Given the description of an element on the screen output the (x, y) to click on. 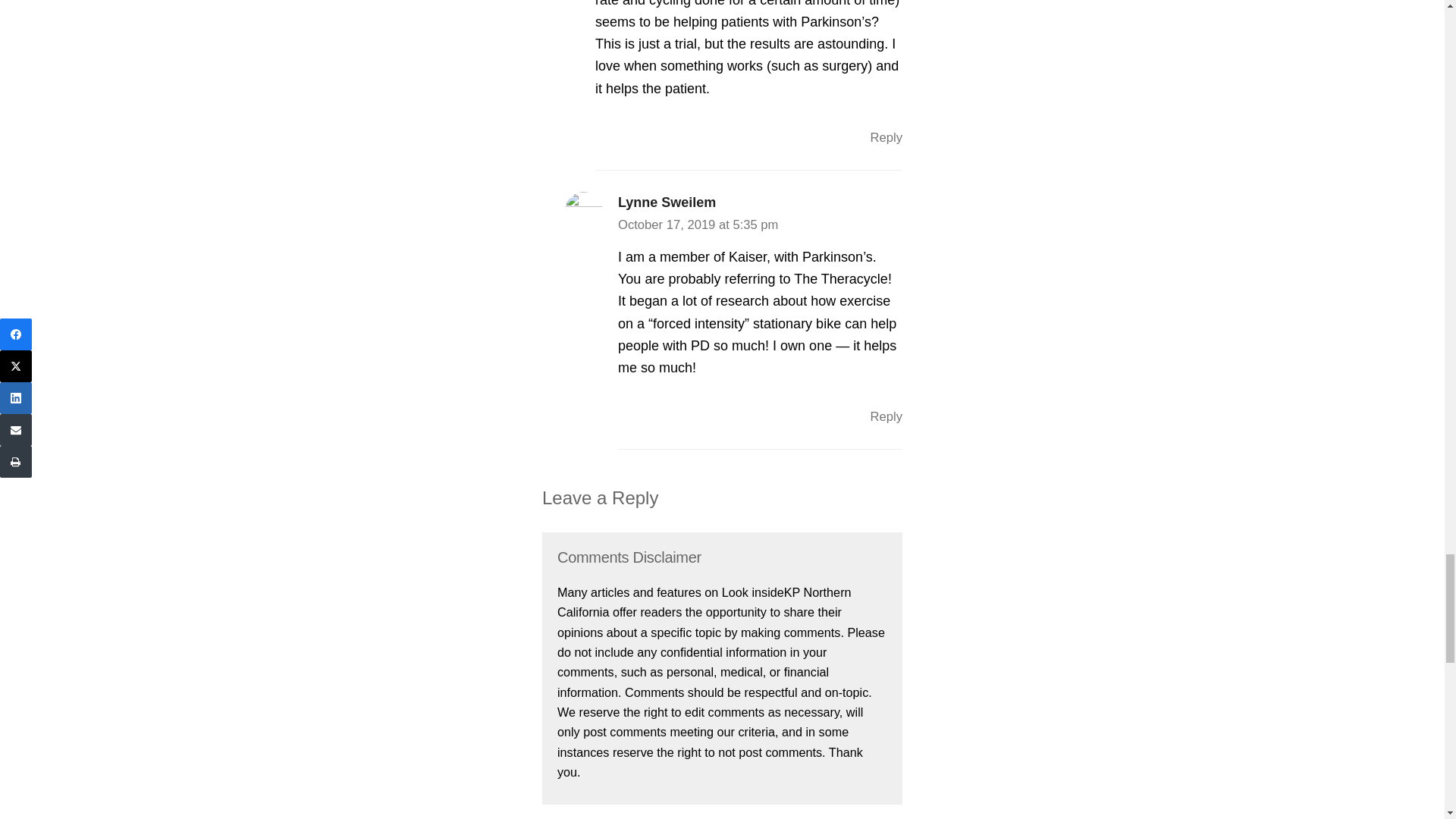
Reply (886, 416)
Reply (886, 137)
Reply (886, 416)
October 17, 2019 at 5:35 pm (697, 224)
Reply (886, 137)
